Given the description of an element on the screen output the (x, y) to click on. 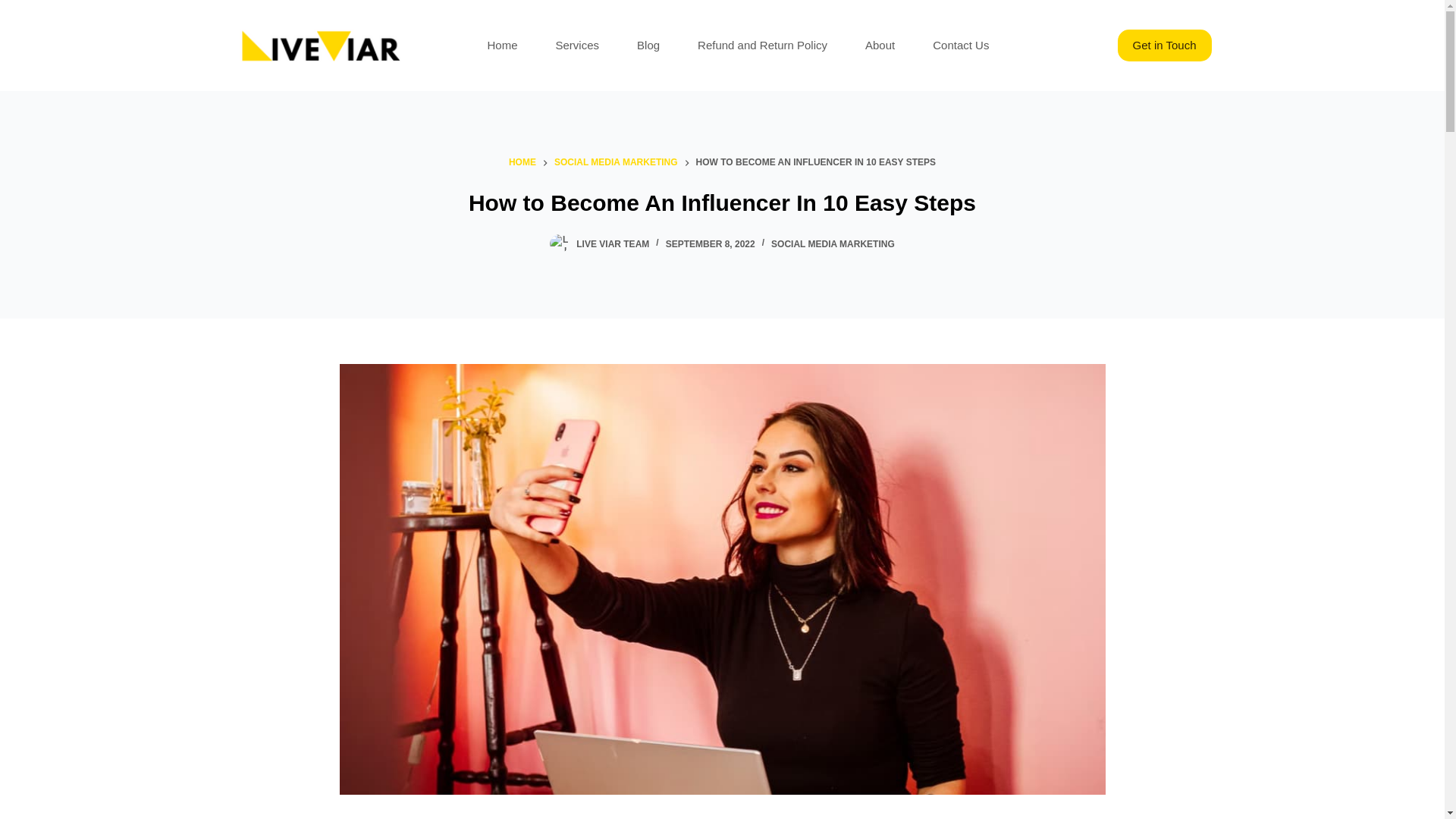
Posts by Live Viar Team (612, 244)
Contact Us (960, 45)
Services (577, 45)
Get in Touch (1164, 45)
Refund and Return Policy (761, 45)
SOCIAL MEDIA MARKETING (616, 162)
SOCIAL MEDIA MARKETING (833, 244)
HOME (521, 162)
LIVE VIAR TEAM (612, 244)
Skip to content (15, 7)
Home (502, 45)
About (879, 45)
Blog (647, 45)
How to Become An Influencer In 10 Easy Steps (722, 202)
